Given the description of an element on the screen output the (x, y) to click on. 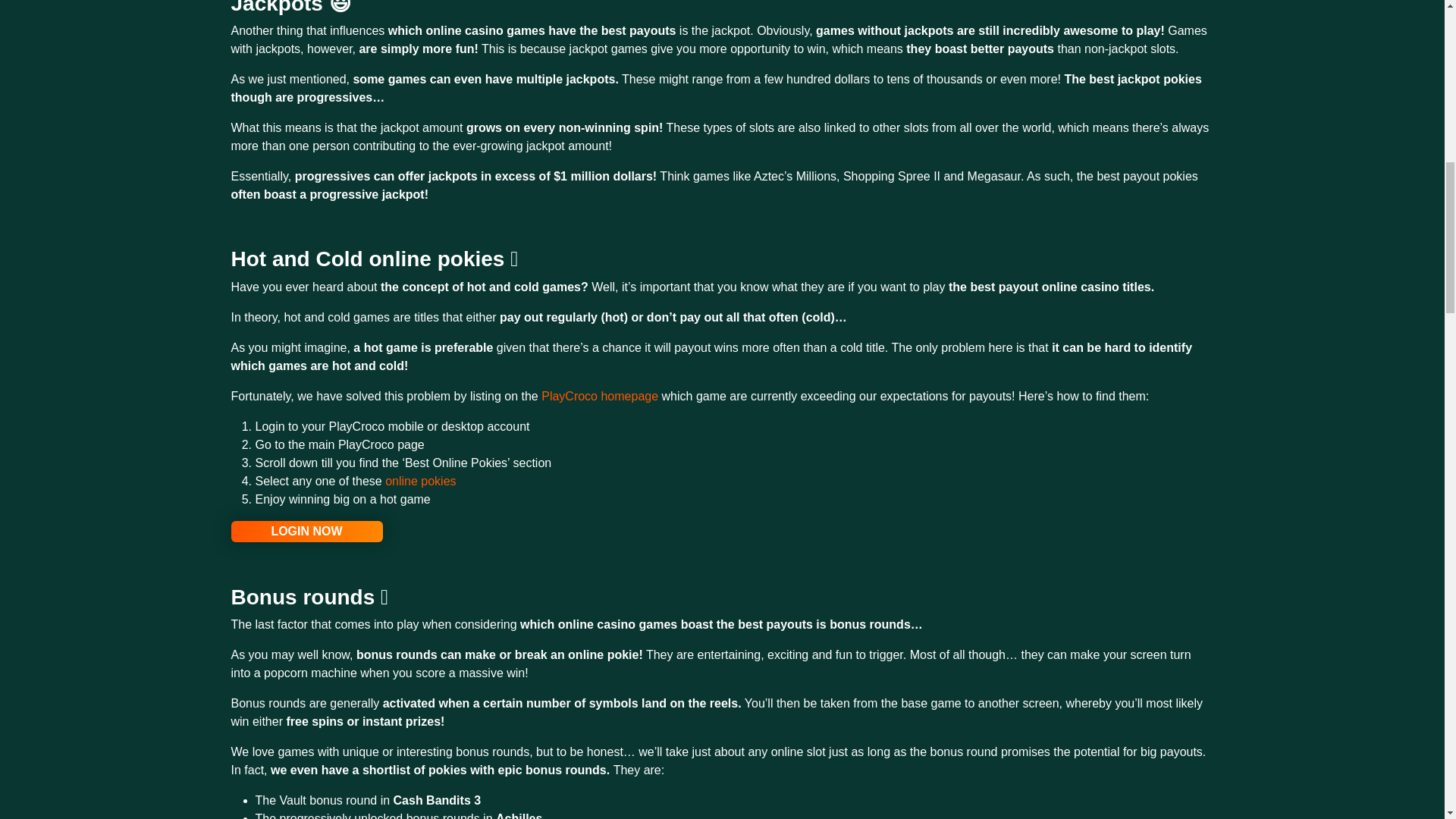
playcroco login (305, 531)
playcroco casino (599, 395)
PlayCroco homepage (599, 395)
online pokies (420, 481)
online pokies (420, 481)
LOGIN NOW (305, 531)
